Given the description of an element on the screen output the (x, y) to click on. 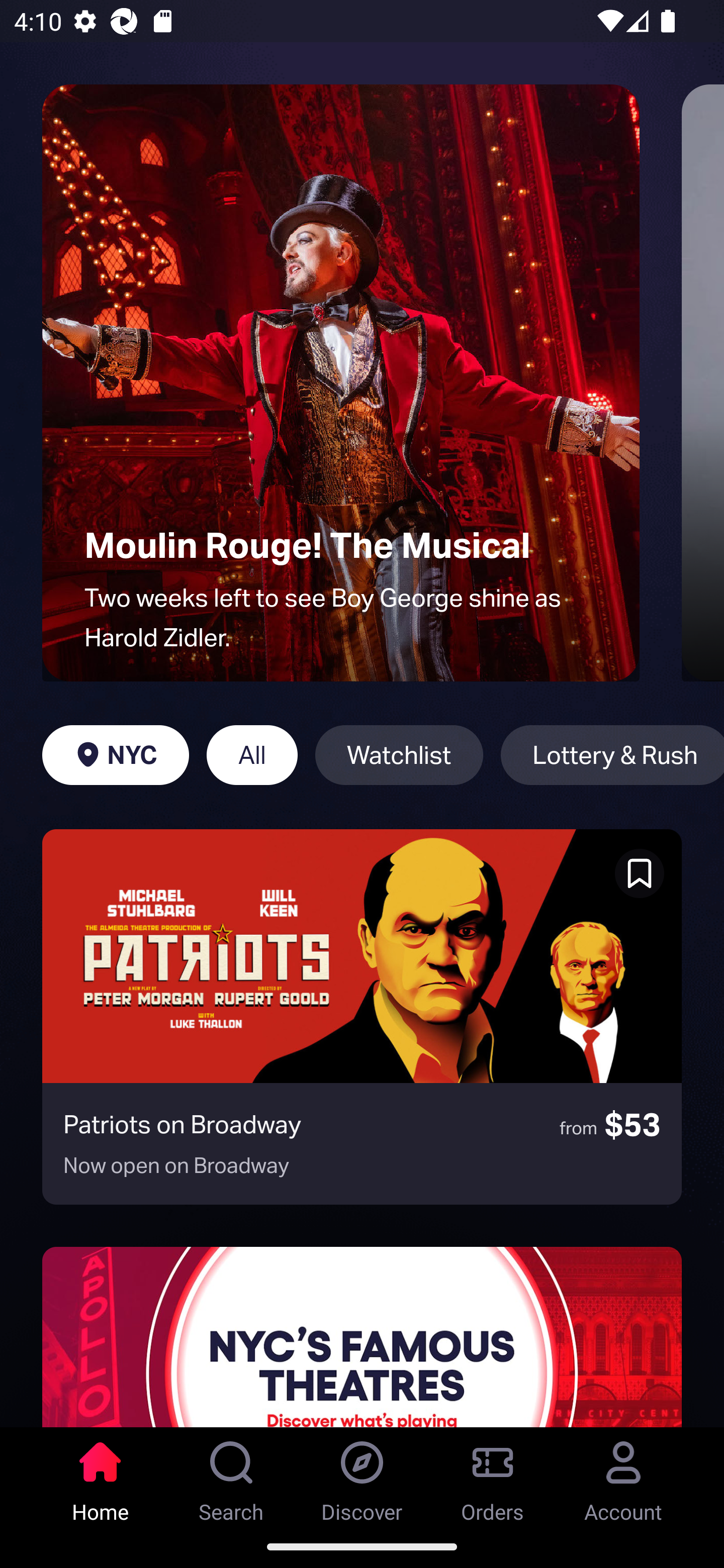
NYC (114, 754)
All (251, 754)
Watchlist (398, 754)
Lottery & Rush (612, 754)
Patriots on Broadway from $53 Now open on Broadway (361, 1016)
Search (230, 1475)
Discover (361, 1475)
Orders (492, 1475)
Account (623, 1475)
